Given the description of an element on the screen output the (x, y) to click on. 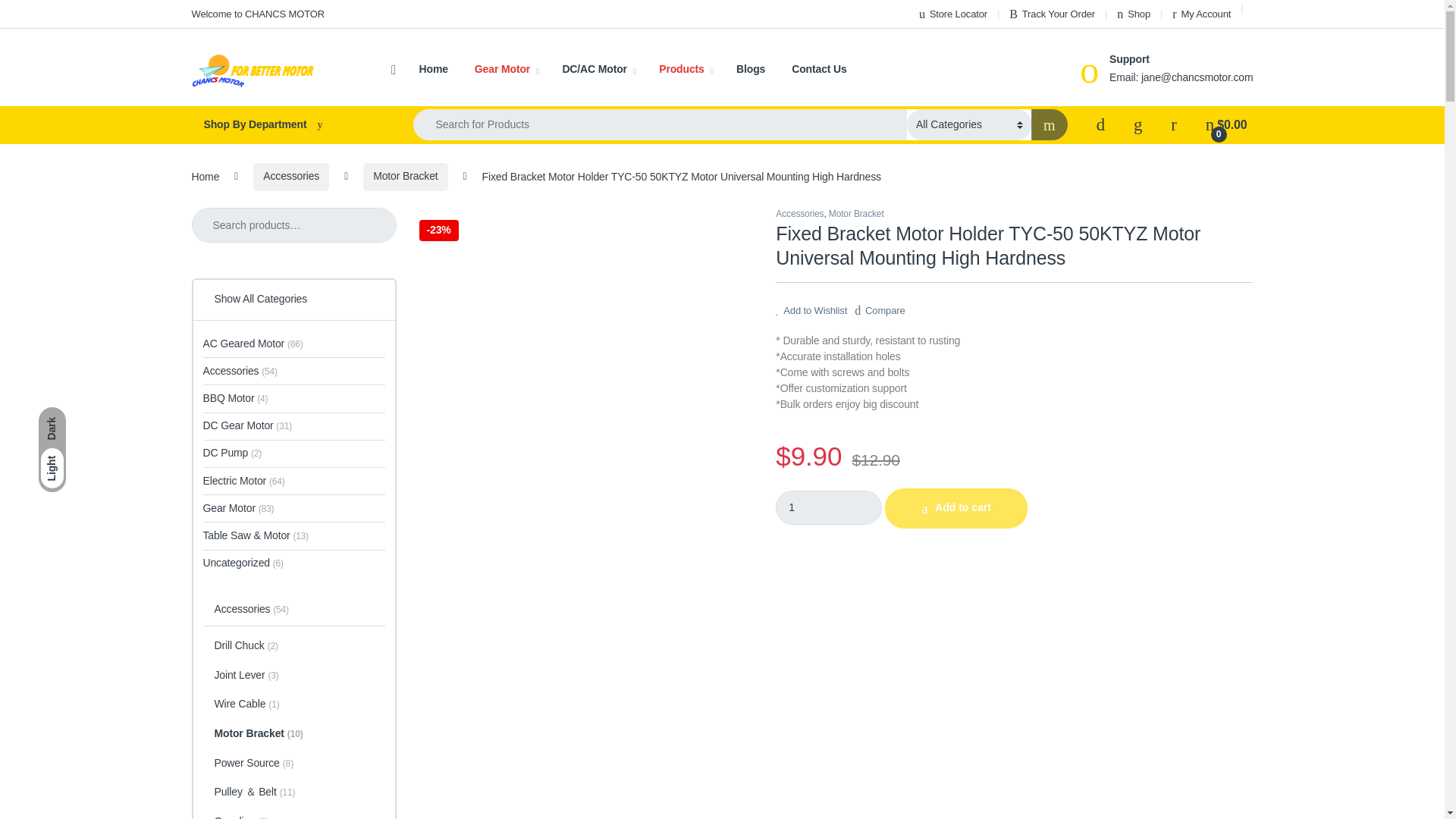
Store Locator (952, 13)
Gear Motor (507, 69)
Welcome to CHANCS MOTOR (256, 13)
Shop (1133, 13)
My Account (1201, 13)
Gear Motor (507, 69)
Track Your Order (1051, 13)
Shop (1133, 13)
Track Your Order (1051, 13)
Welcome to CHANCS MOTOR (256, 13)
